Given the description of an element on the screen output the (x, y) to click on. 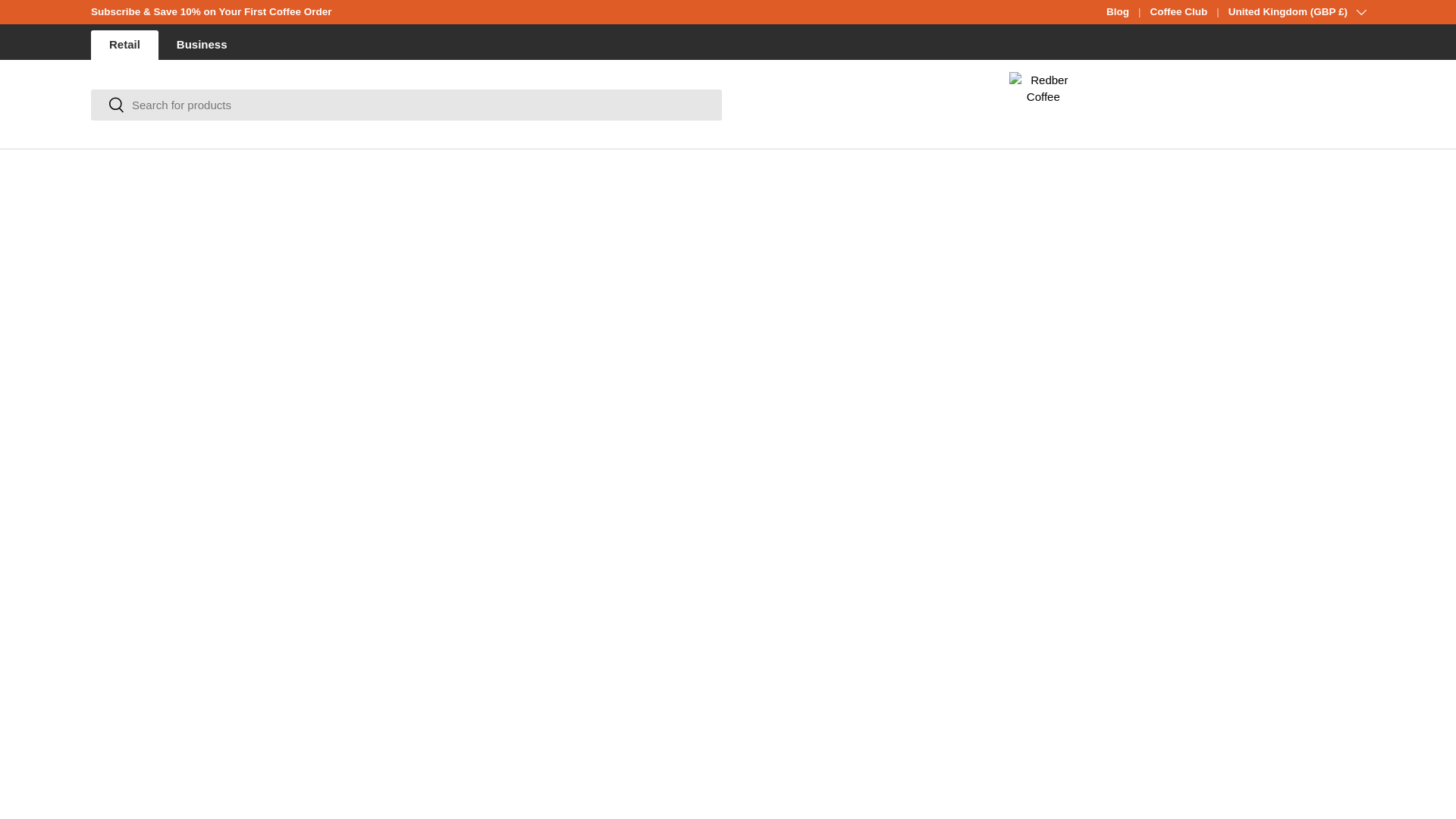
Search (107, 105)
SKIP TO CONTENT (68, 21)
Blog (1128, 11)
Business (201, 43)
Coffee Club (1188, 11)
Retail (124, 43)
